Given the description of an element on the screen output the (x, y) to click on. 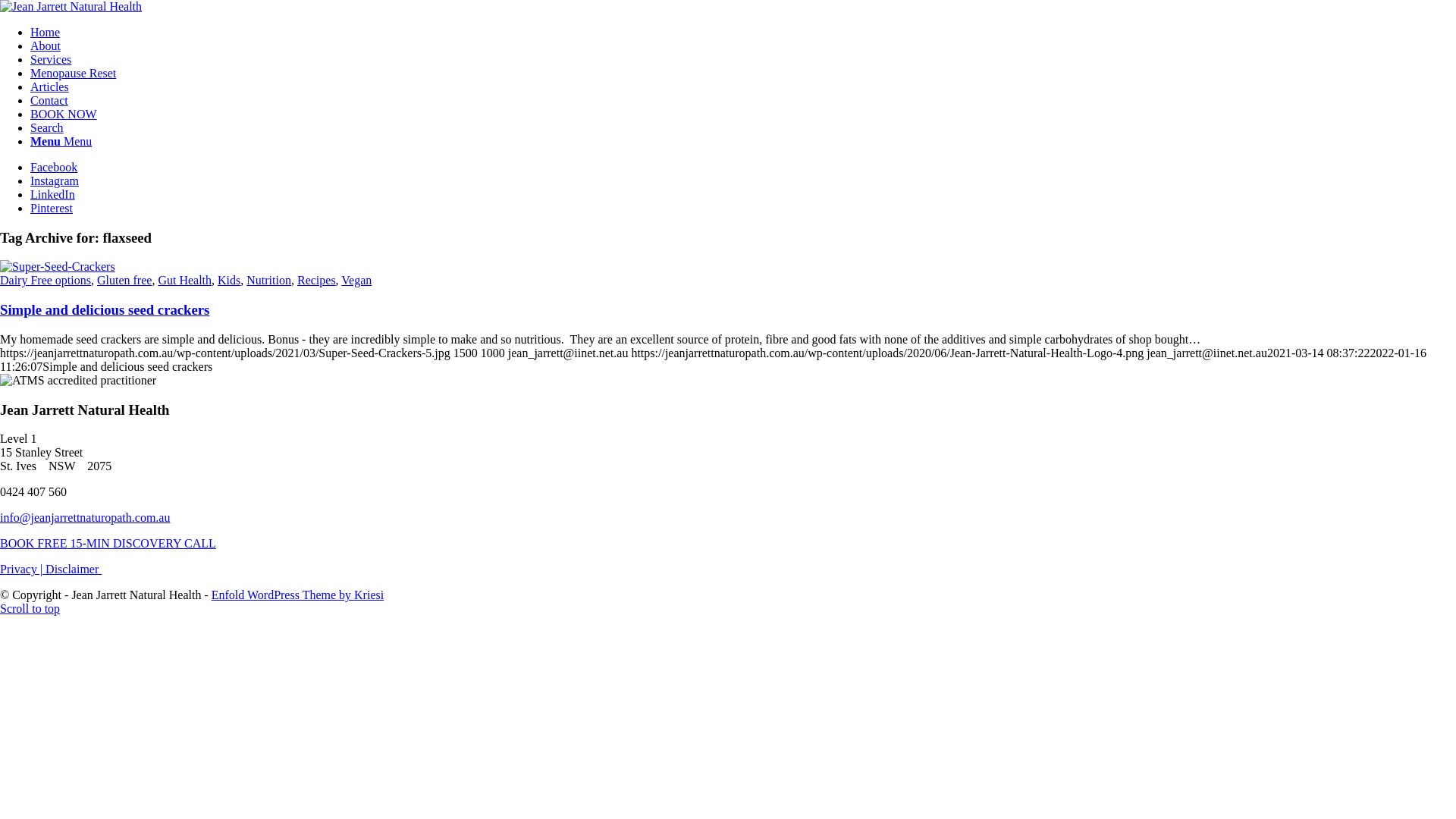
Menopause Reset Element type: text (73, 72)
Dairy Free options Element type: text (45, 279)
Scroll to top Element type: text (29, 608)
BOOK FREE 15-MIN DISCOVERY CALL Element type: text (108, 542)
Home Element type: text (44, 31)
Contact Element type: text (49, 100)
Menu Menu Element type: text (60, 140)
Services Element type: text (50, 59)
info@jeanjarrettnaturopath.com.au Element type: text (84, 517)
Privacy | Element type: text (22, 568)
Kids Element type: text (228, 279)
LinkedIn Element type: text (52, 194)
About Element type: text (45, 45)
Simple and delicious seed crackers Element type: hover (57, 266)
Simple and delicious seed crackers Element type: text (104, 309)
Enfold WordPress Theme by Kriesi Element type: text (297, 594)
Jean Jarrett Natural Health Element type: hover (70, 6)
Vegan Element type: text (356, 279)
Gluten free Element type: text (124, 279)
Nutrition Element type: text (268, 279)
Disclaimer  Element type: text (73, 568)
Gut Health Element type: text (184, 279)
Instagram Element type: text (54, 180)
Jean Jarrett Natural Health Element type: hover (70, 6)
BOOK NOW Element type: text (63, 113)
Search Element type: text (46, 127)
Articles Element type: text (49, 86)
ATMS Accredited Practitioner Element type: hover (78, 380)
Pinterest Element type: text (51, 207)
Recipes Element type: text (316, 279)
Facebook Element type: text (53, 166)
